Given the description of an element on the screen output the (x, y) to click on. 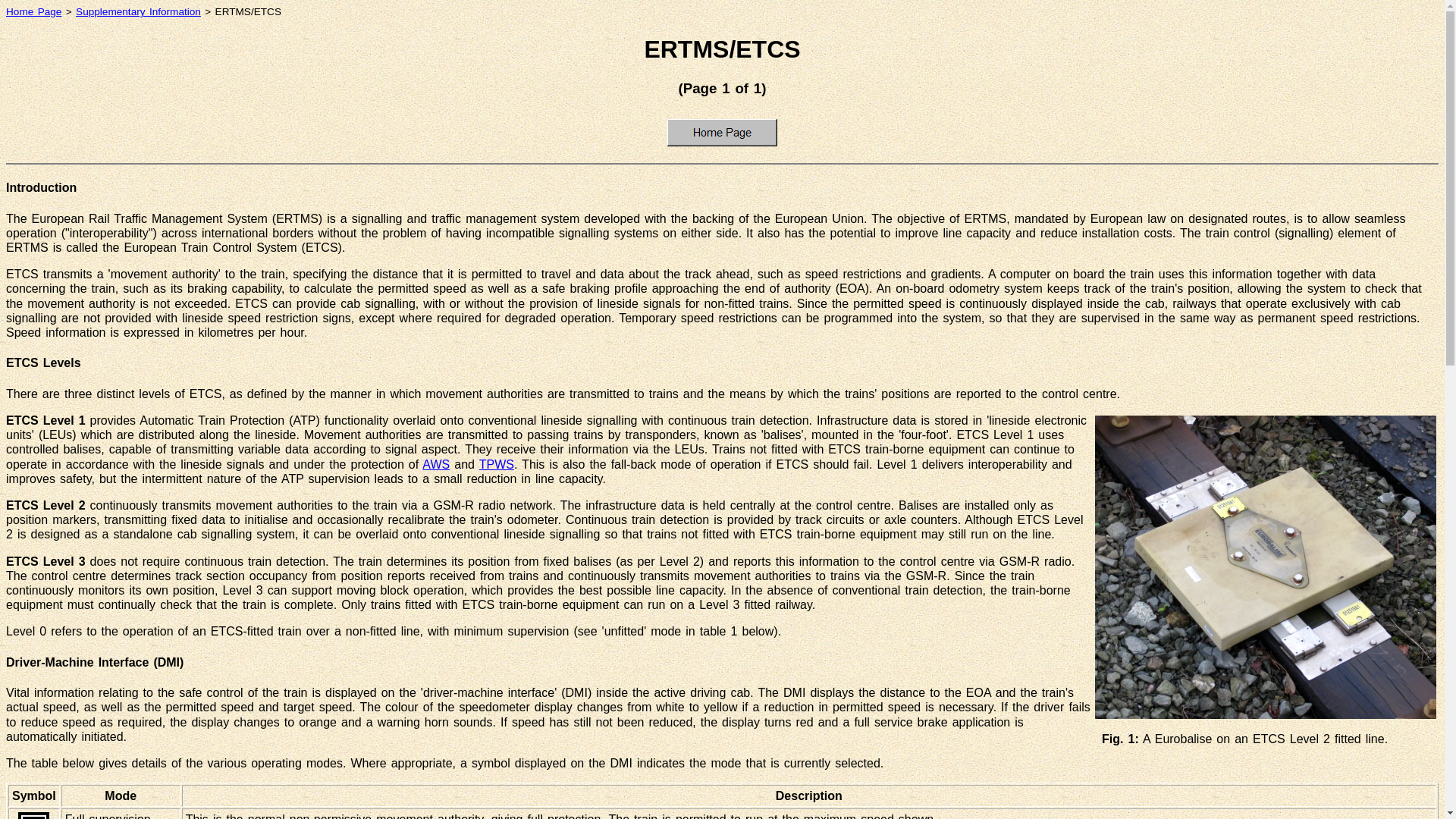
Home Page (33, 11)
AWS (435, 463)
Home Page (721, 132)
Supplementary Information (137, 11)
TPWS (496, 463)
